Given the description of an element on the screen output the (x, y) to click on. 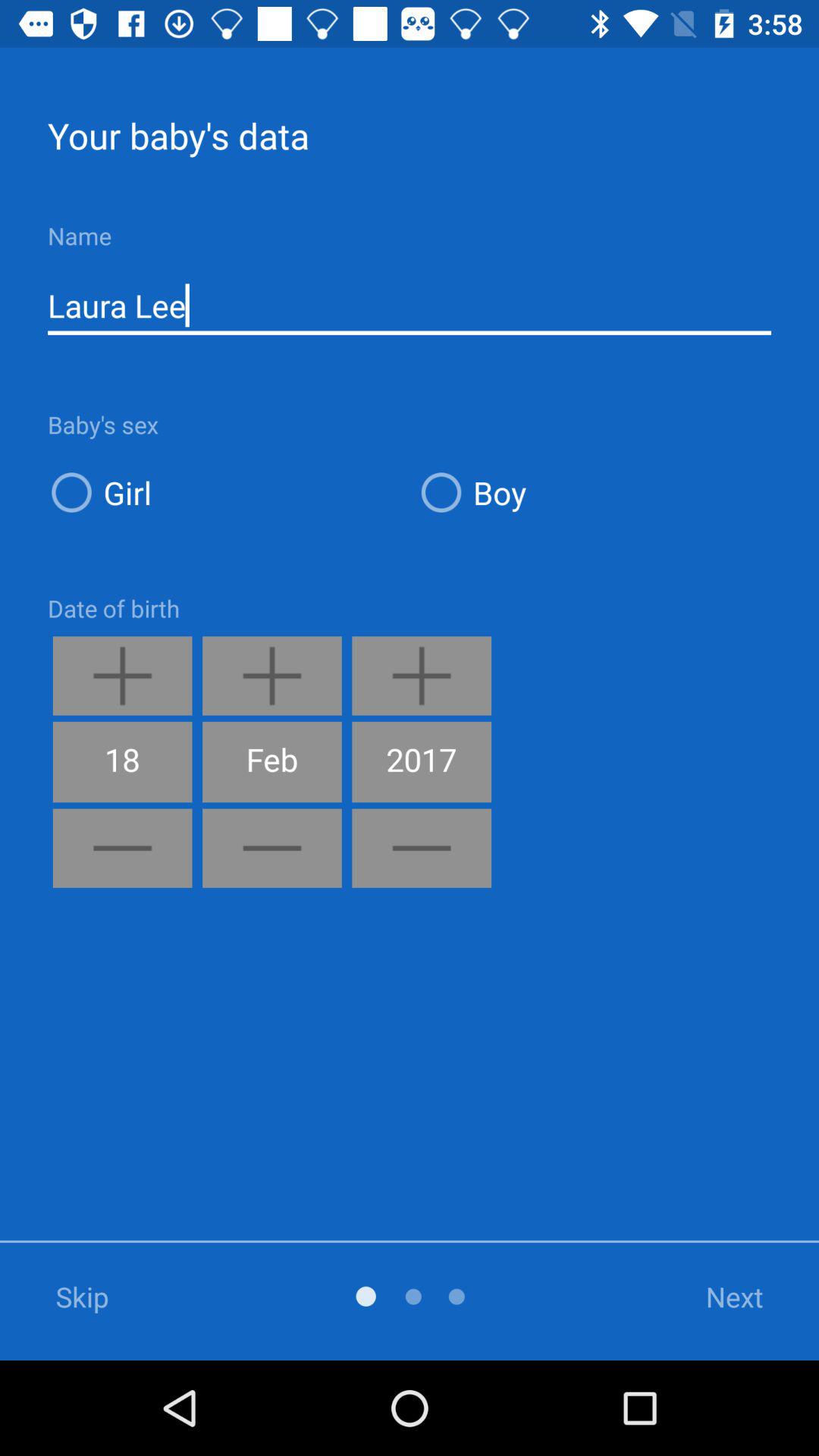
swipe until girl icon (224, 492)
